Given the description of an element on the screen output the (x, y) to click on. 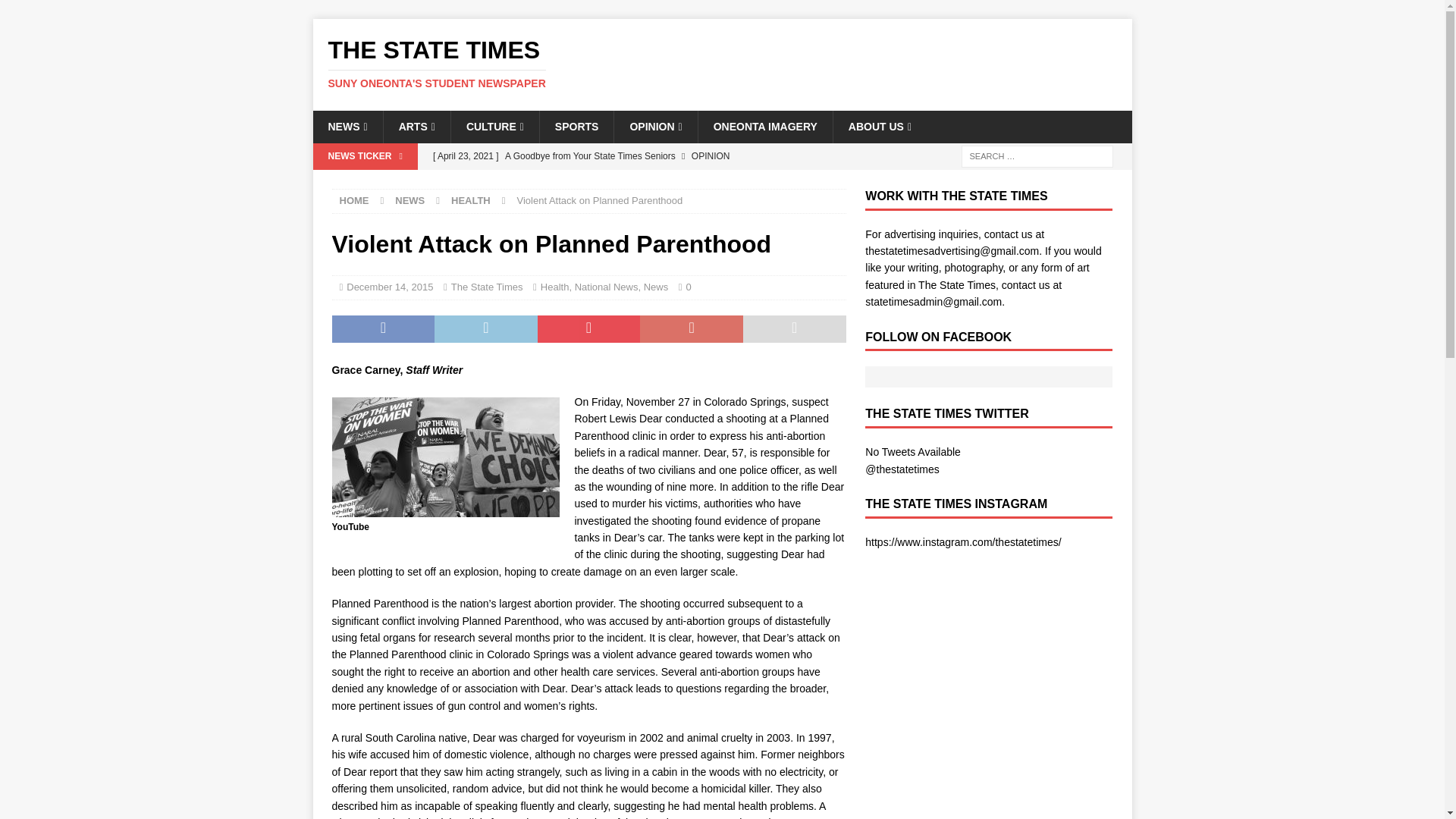
December 14, 2015 (389, 286)
NEWS (347, 126)
HOME (354, 200)
ARTS (415, 126)
The State Times (721, 63)
Search (56, 11)
A Farewell from Your State Times Seniors (634, 181)
NEWS (409, 200)
ABOUT US (879, 126)
The State Times (486, 286)
HEALTH (470, 200)
ONEONTA IMAGERY (764, 126)
A Goodbye from Your State Times Seniors (634, 155)
CULTURE (493, 126)
SPORTS (576, 126)
